Given the description of an element on the screen output the (x, y) to click on. 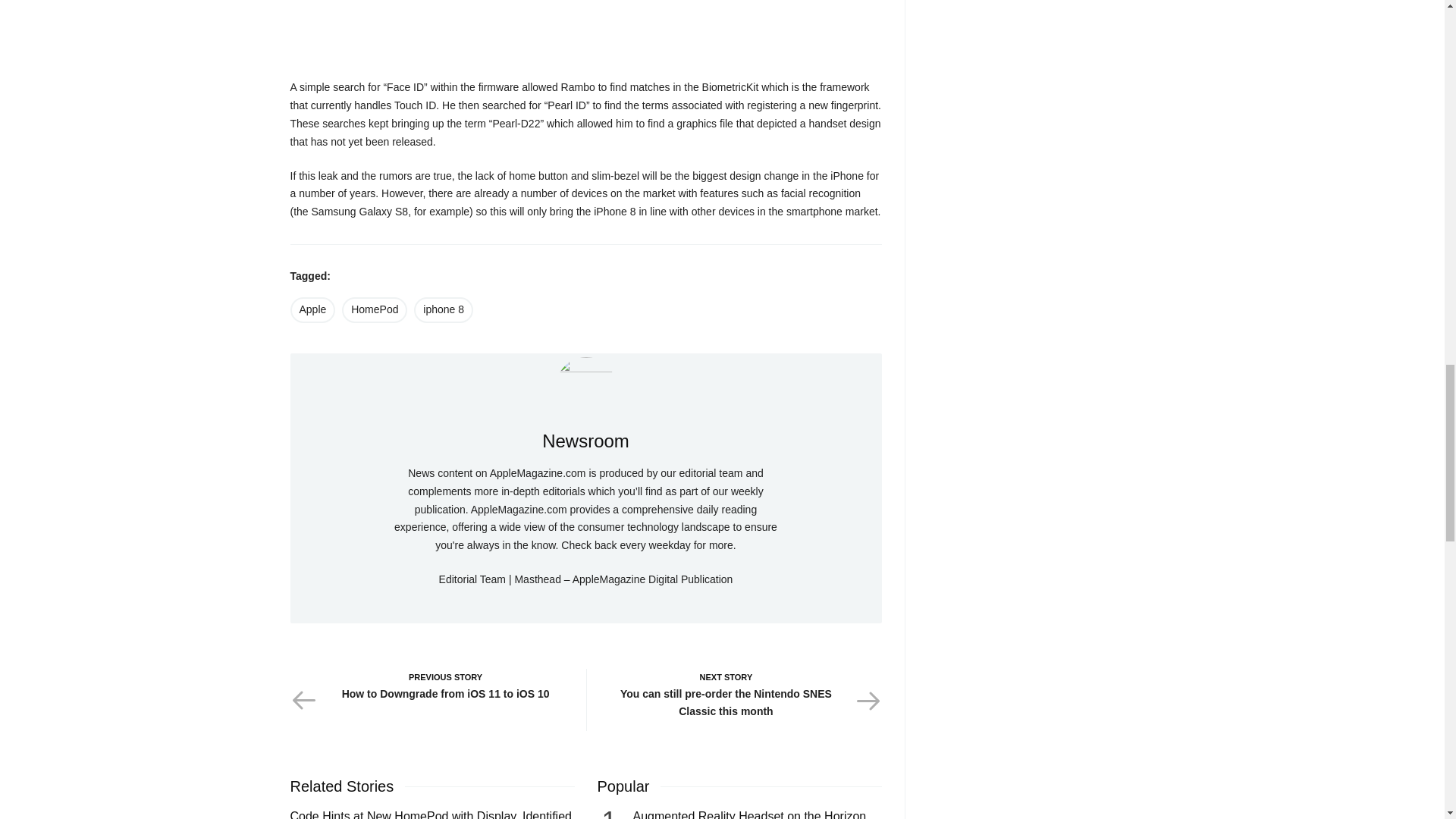
Newsroom (429, 699)
Follow us on Twitter (584, 440)
Follow us on Facebook (545, 609)
iphone 8 (569, 609)
Newsroom (443, 309)
Newsroom (584, 386)
Click to copy the article link (584, 440)
HomePod (618, 609)
Apple (374, 309)
